Given the description of an element on the screen output the (x, y) to click on. 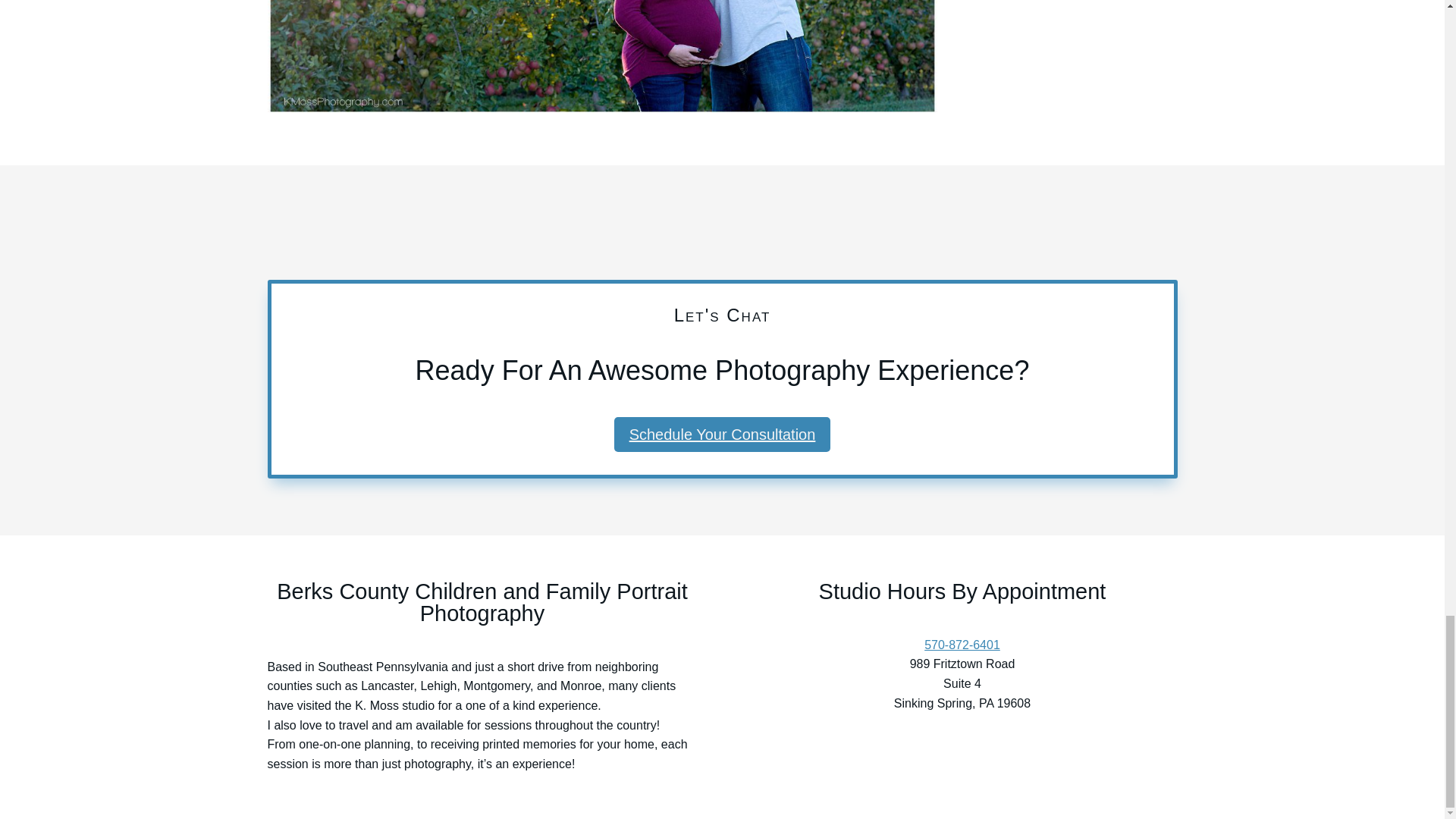
570-872-6401 (962, 644)
Schedule Your Consultation (722, 434)
